Given the description of an element on the screen output the (x, y) to click on. 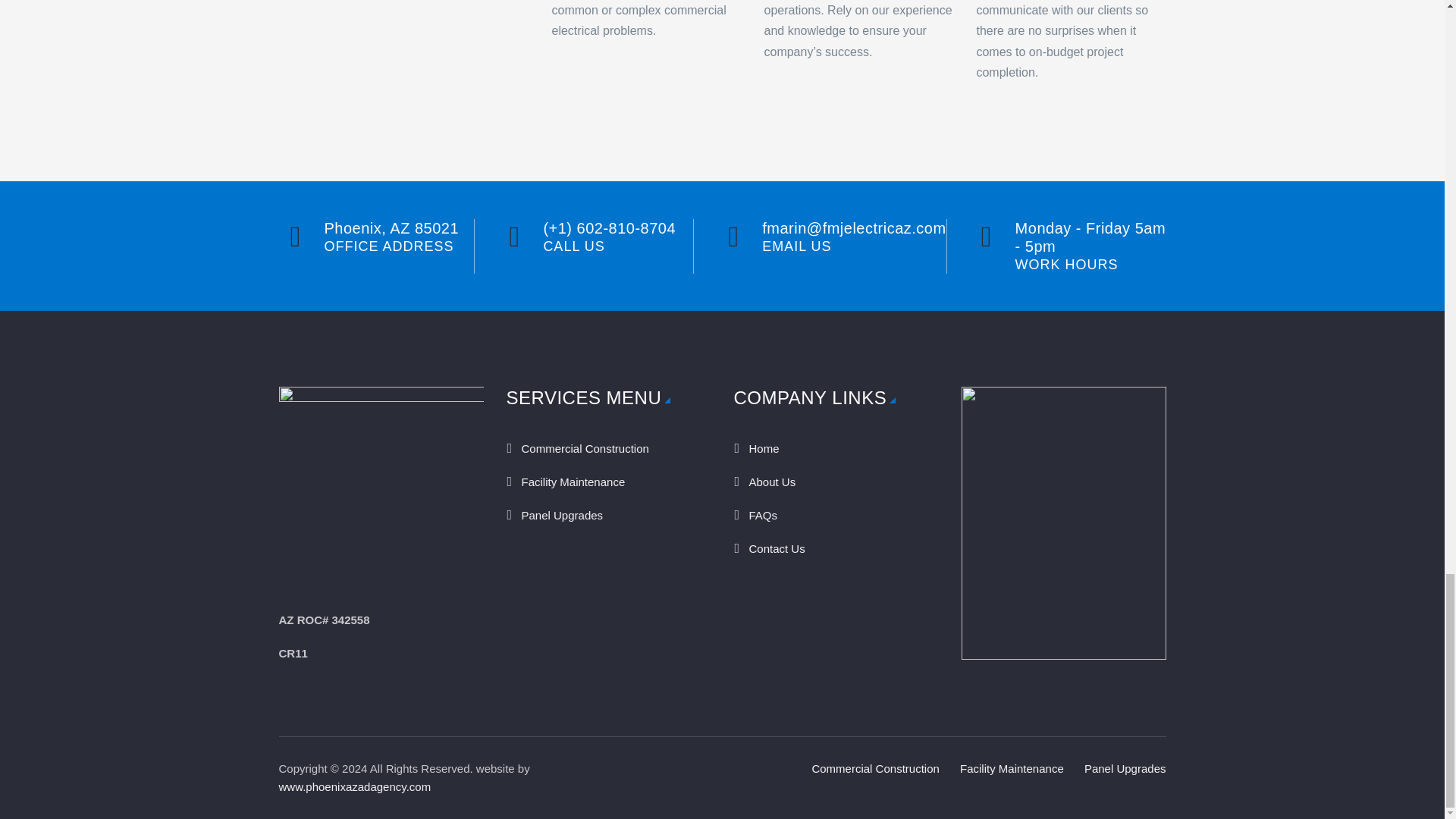
About Us (836, 482)
Panel Upgrades (608, 515)
FAQs (836, 515)
Commercial Construction (608, 449)
www.phoenixazadagency.com (354, 786)
Commercial Construction (874, 768)
Panel Upgrades (1125, 768)
Facility Maintenance (1011, 768)
Facility Maintenance (608, 482)
Home (836, 449)
Contact Us (836, 548)
